Given the description of an element on the screen output the (x, y) to click on. 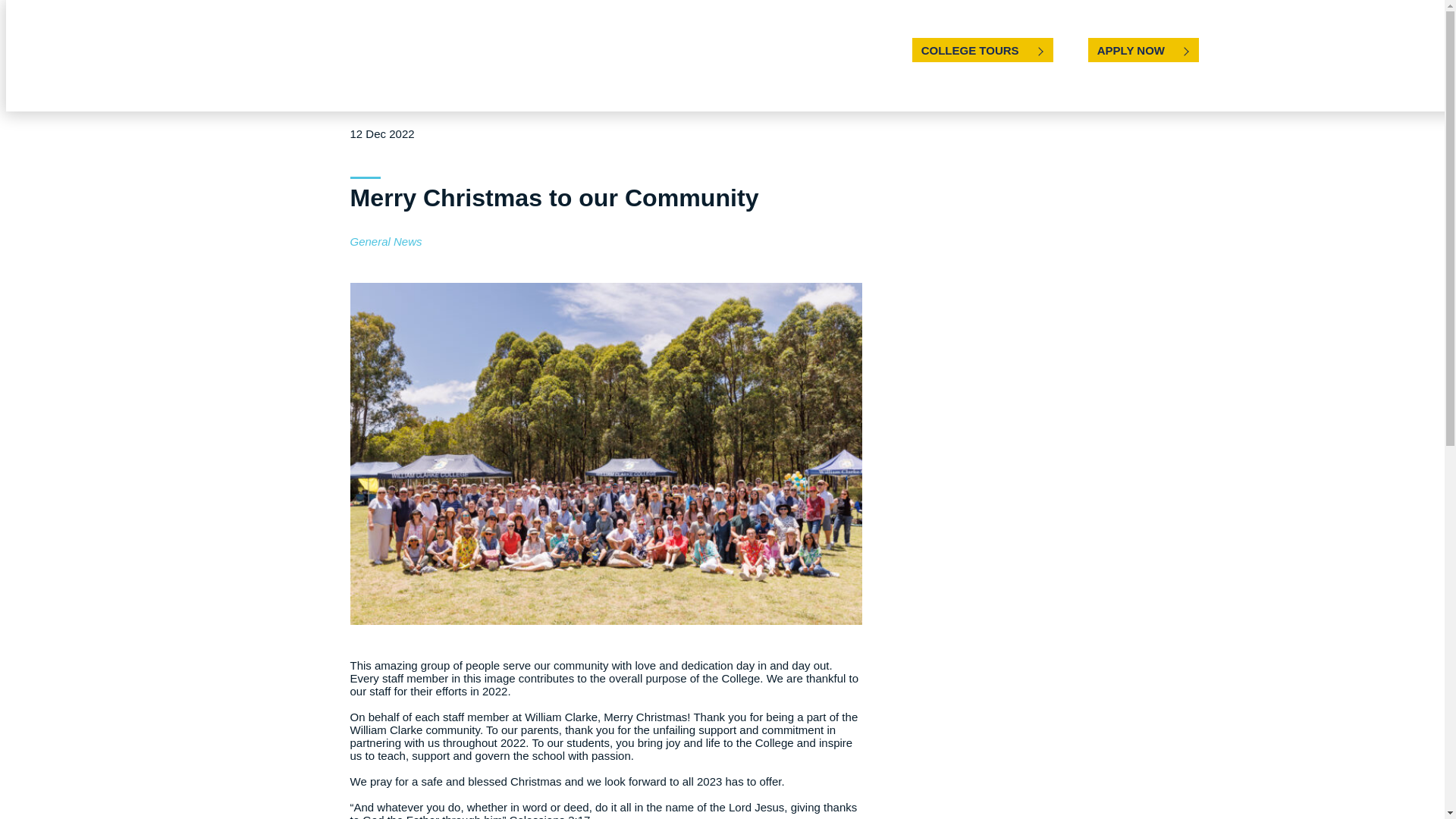
APPLY NOW (1142, 49)
William Clarke College (115, 53)
COLLEGE TOURS (982, 49)
Connect (1243, 50)
Payment (1298, 50)
Contact (1354, 49)
Search (1410, 50)
